Given the description of an element on the screen output the (x, y) to click on. 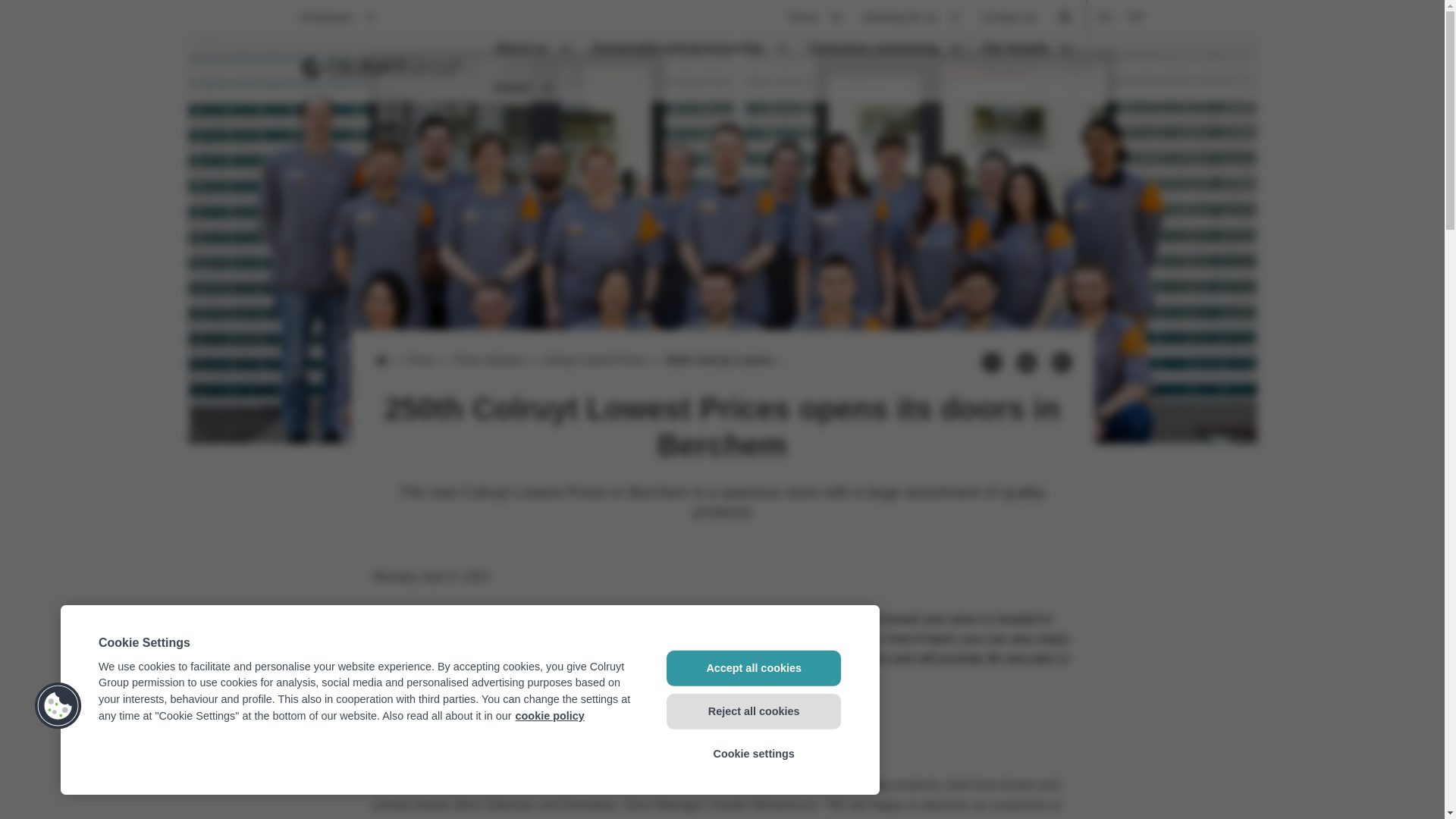
Search in press releases (1064, 17)
250ste Colruyt Laagste Prijzen opent in Berchem (1106, 15)
Cookies Button (57, 705)
